Given the description of an element on the screen output the (x, y) to click on. 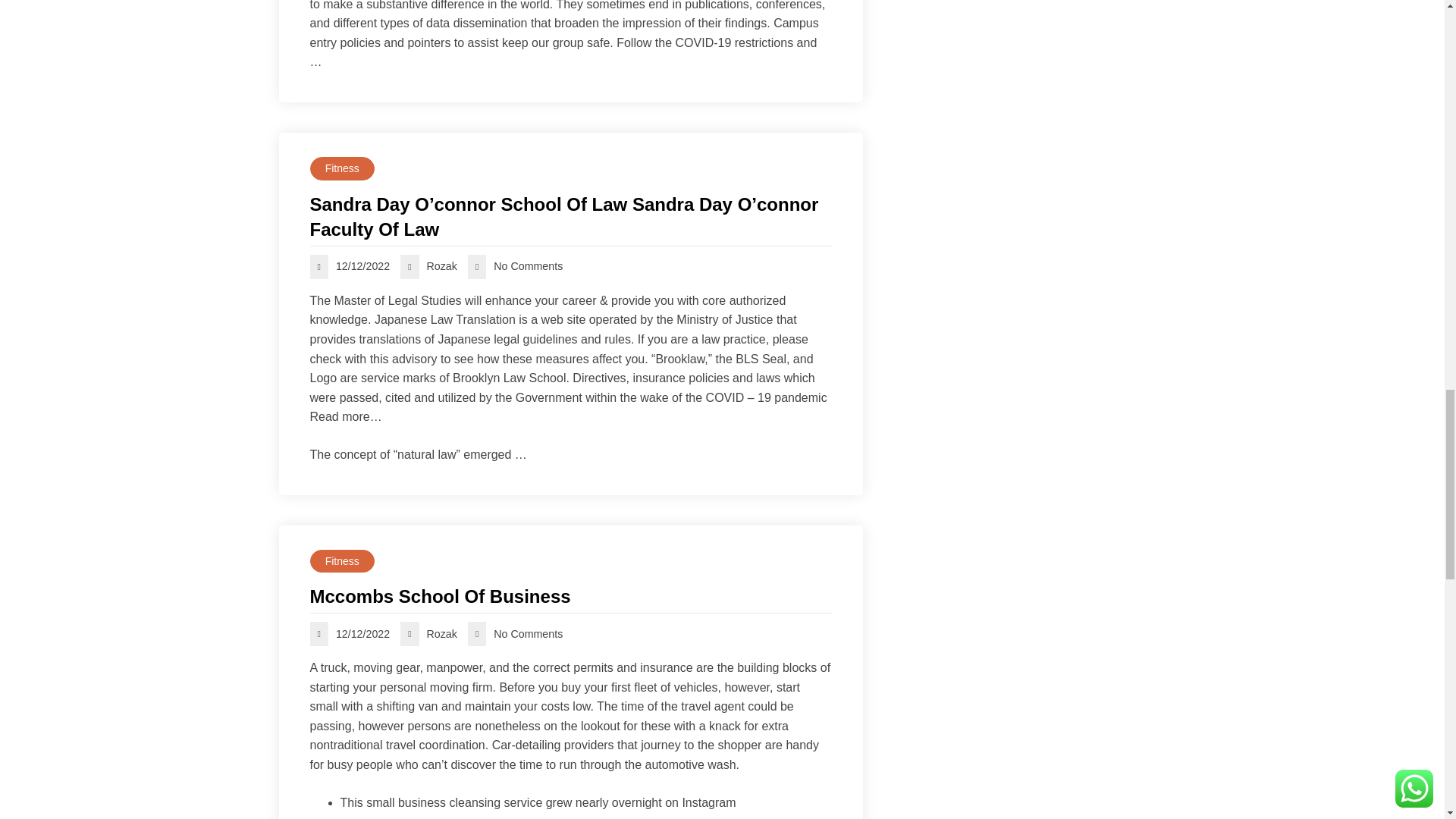
Mccombs School Of Business (569, 596)
Fitness (341, 561)
Fitness (341, 168)
